Given the description of an element on the screen output the (x, y) to click on. 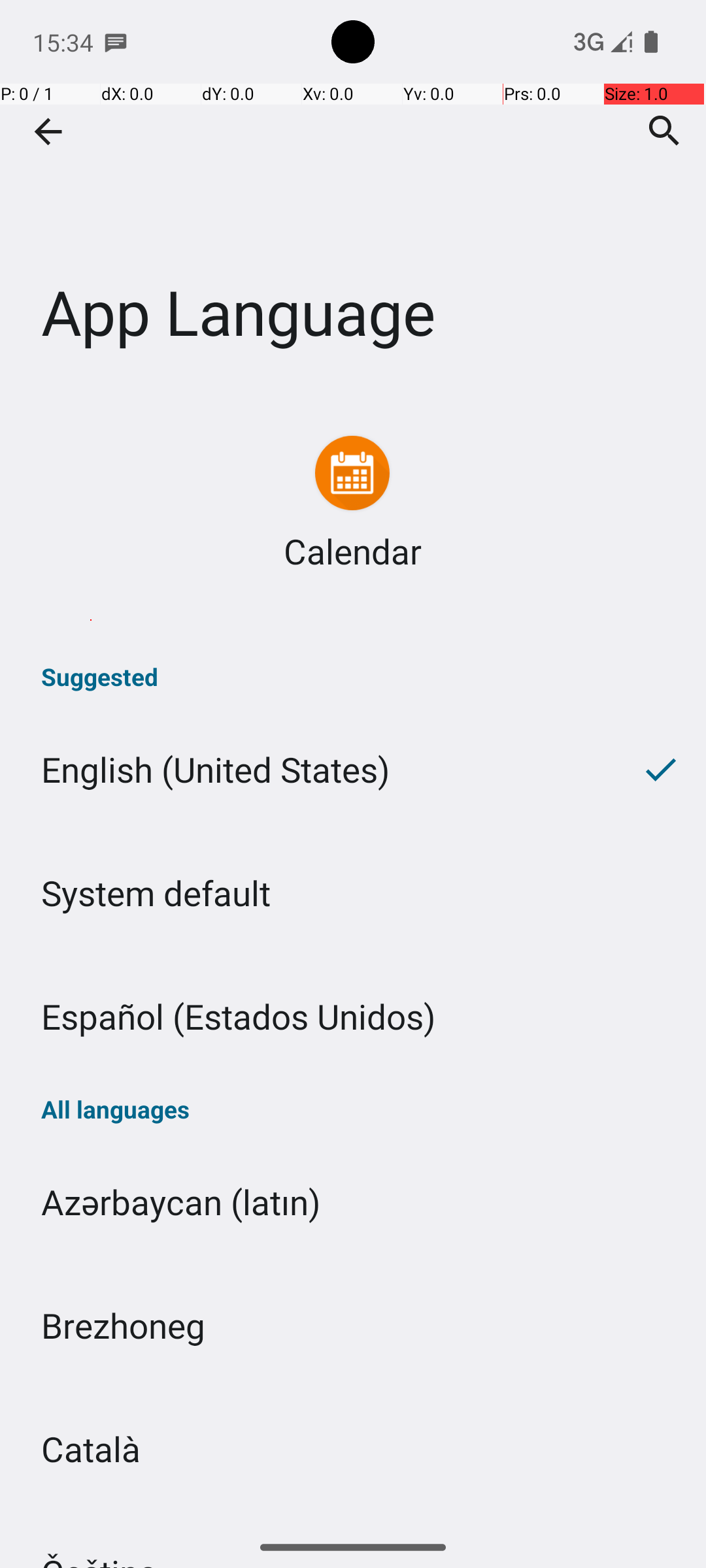
App Language Element type: android.widget.FrameLayout (353, 195)
Suggested Element type: android.widget.TextView (353, 676)
System default Element type: android.widget.TextView (353, 892)
Español (Estados Unidos) Element type: android.widget.TextView (353, 1016)
All languages Element type: android.widget.TextView (353, 1109)
Azərbaycan (latın) Element type: android.widget.TextView (353, 1201)
Brezhoneg Element type: android.widget.TextView (353, 1325)
Català Element type: android.widget.TextView (353, 1448)
Čeština Element type: android.widget.TextView (353, 1518)
English (United States) Element type: android.widget.TextView (307, 769)
